Given the description of an element on the screen output the (x, y) to click on. 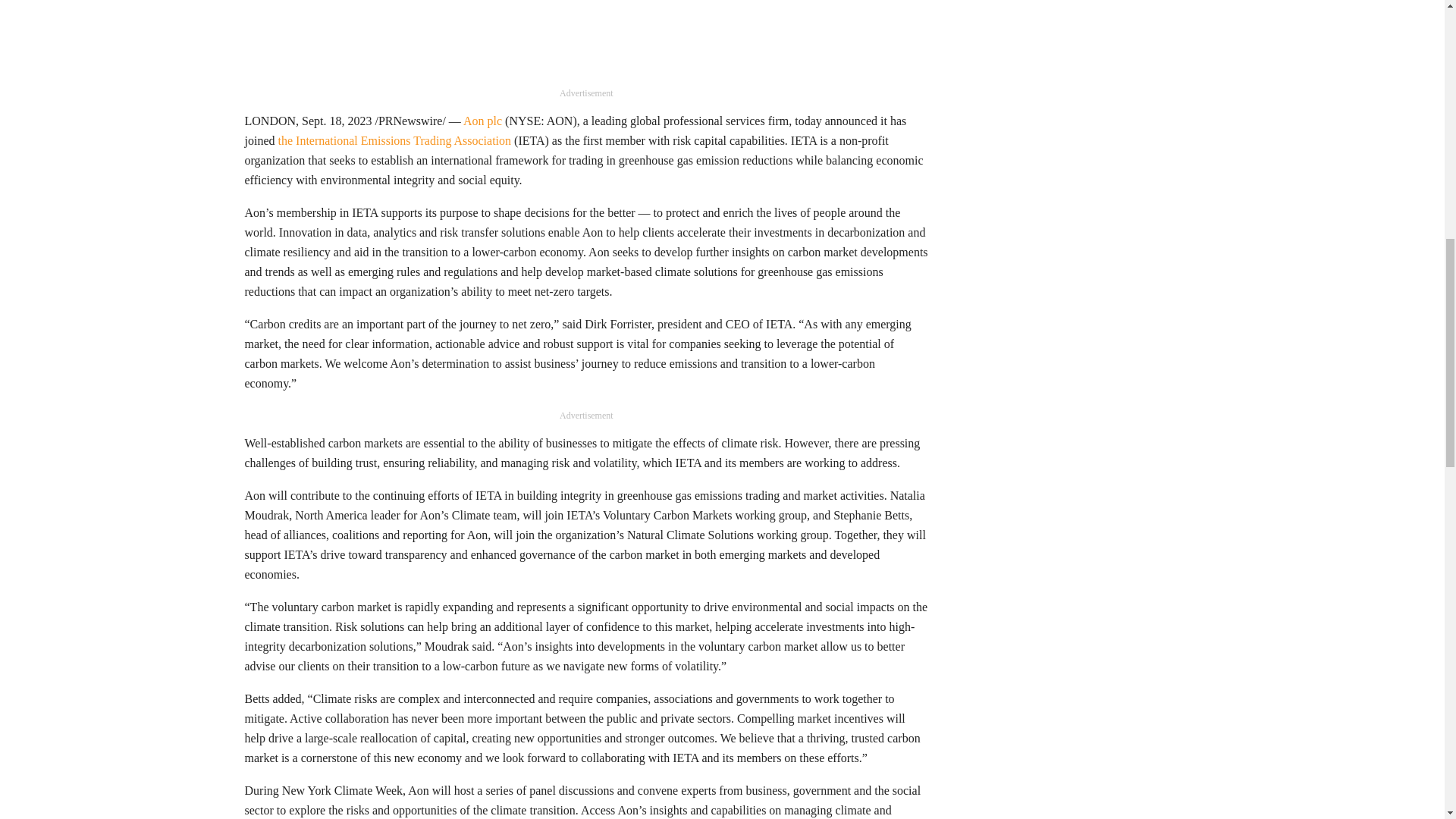
Advertisement (586, 42)
